Given the description of an element on the screen output the (x, y) to click on. 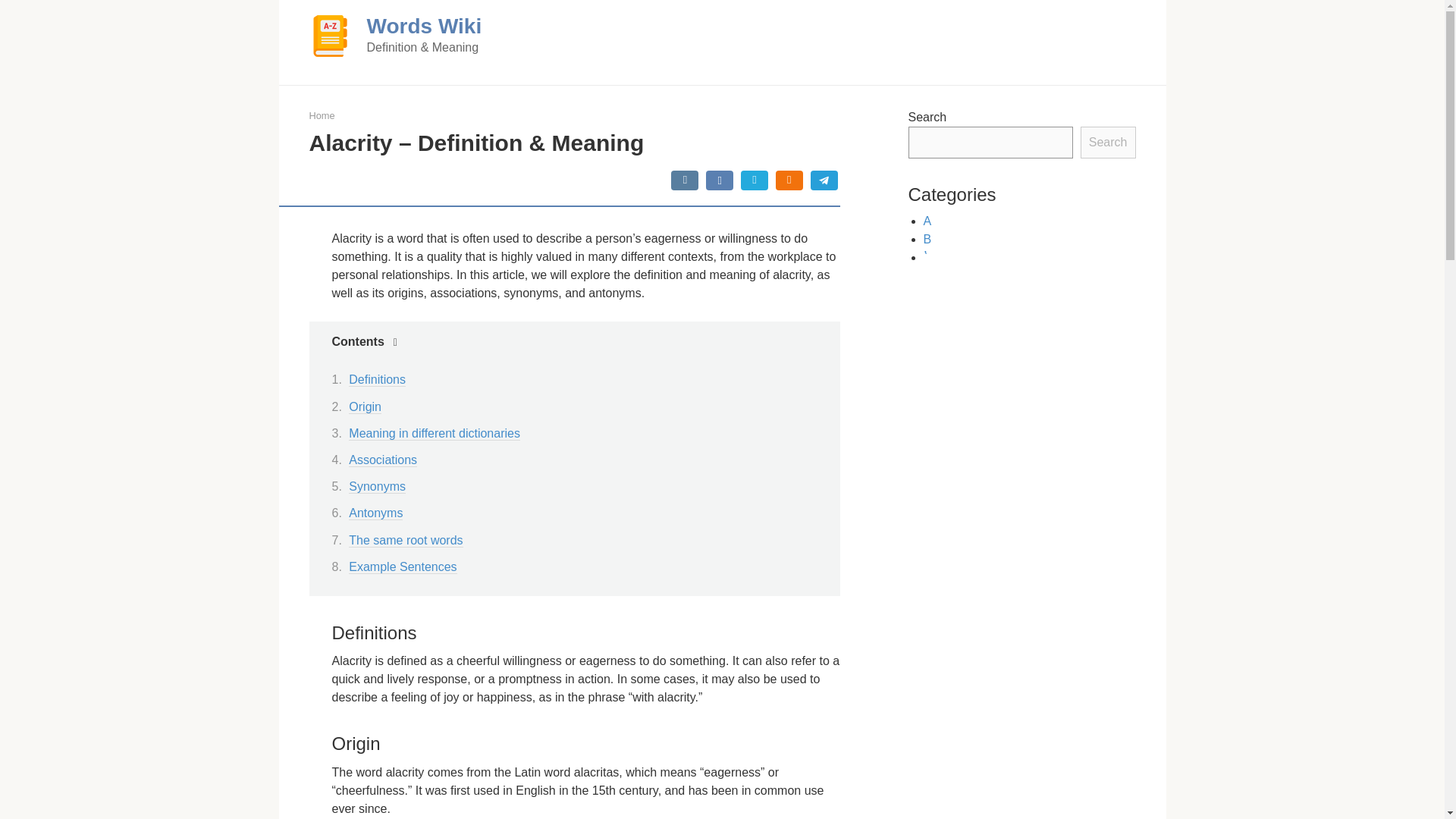
Search (1107, 142)
Example Sentences (403, 567)
Home (321, 115)
Associations (382, 459)
Synonyms (377, 486)
Origin (365, 407)
Words Wiki (423, 25)
Meaning in different dictionaries (434, 433)
Antonyms (376, 513)
The same root words (406, 540)
